Given the description of an element on the screen output the (x, y) to click on. 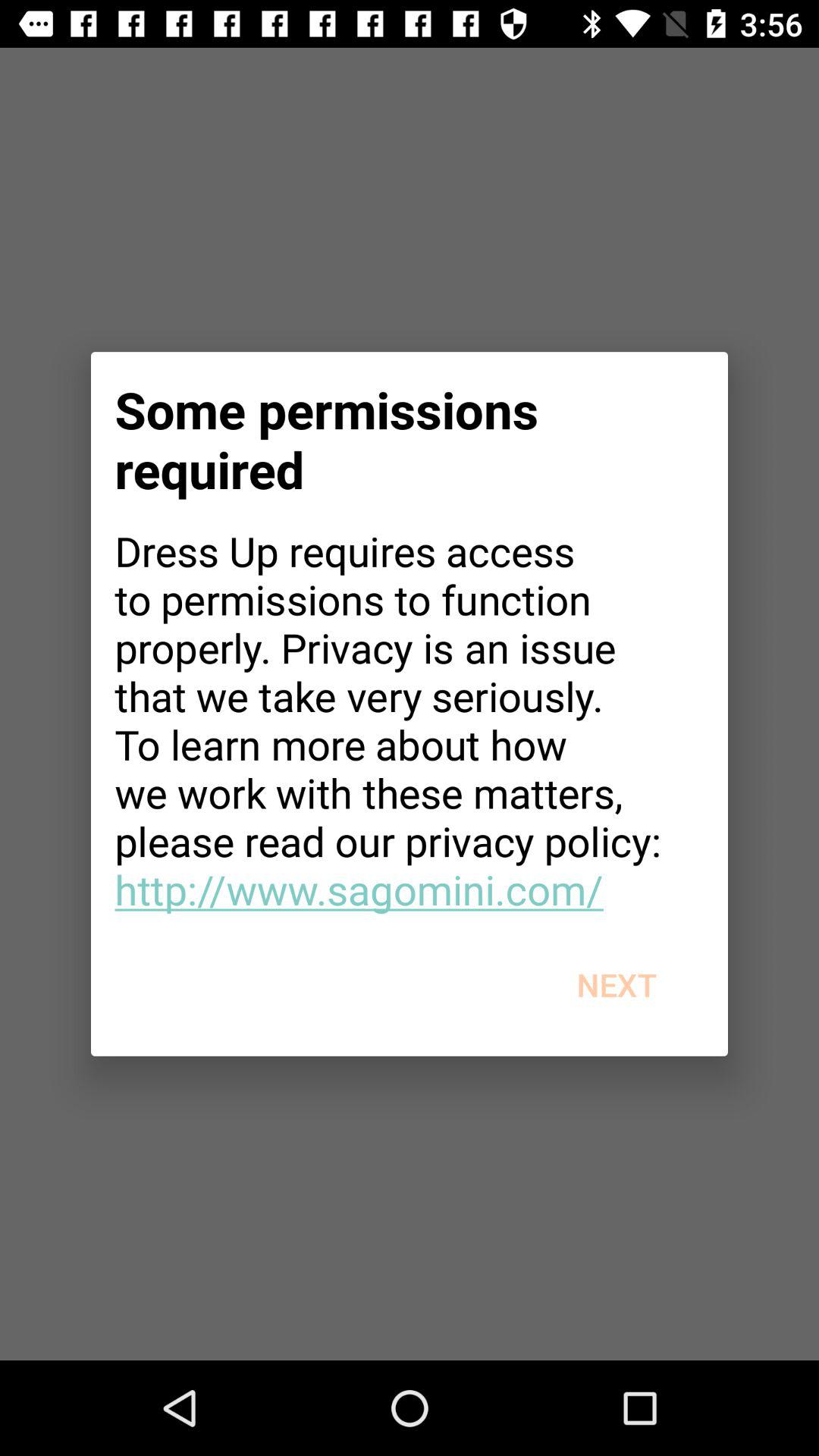
tap button above next icon (409, 719)
